Given the description of an element on the screen output the (x, y) to click on. 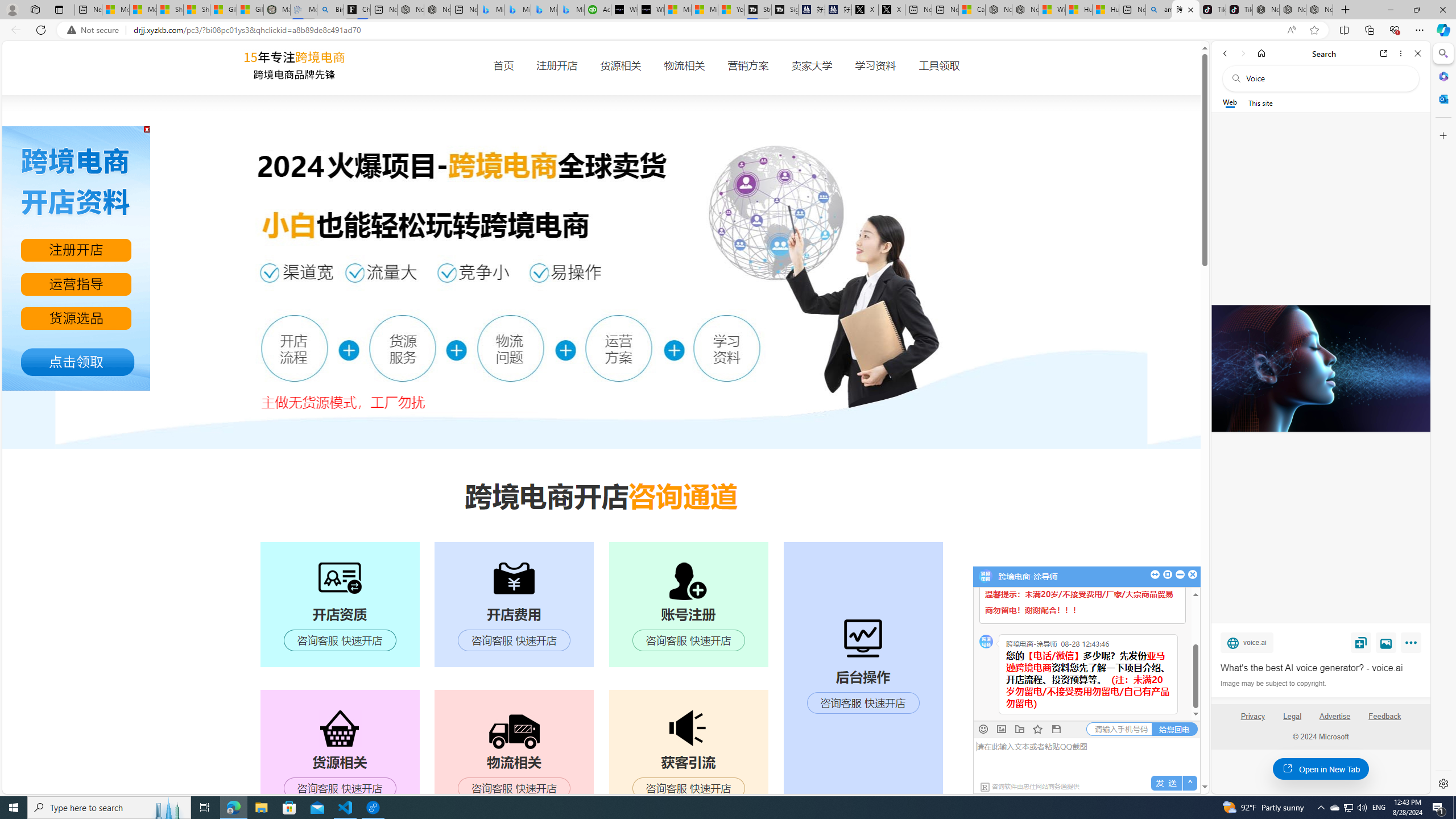
Bing Real Estate - Home sales and rental listings (329, 9)
Class: logo (296, 67)
Nordace - Siena Pro 15 Essential Set (1319, 9)
Open link in new tab (1383, 53)
